Given the description of an element on the screen output the (x, y) to click on. 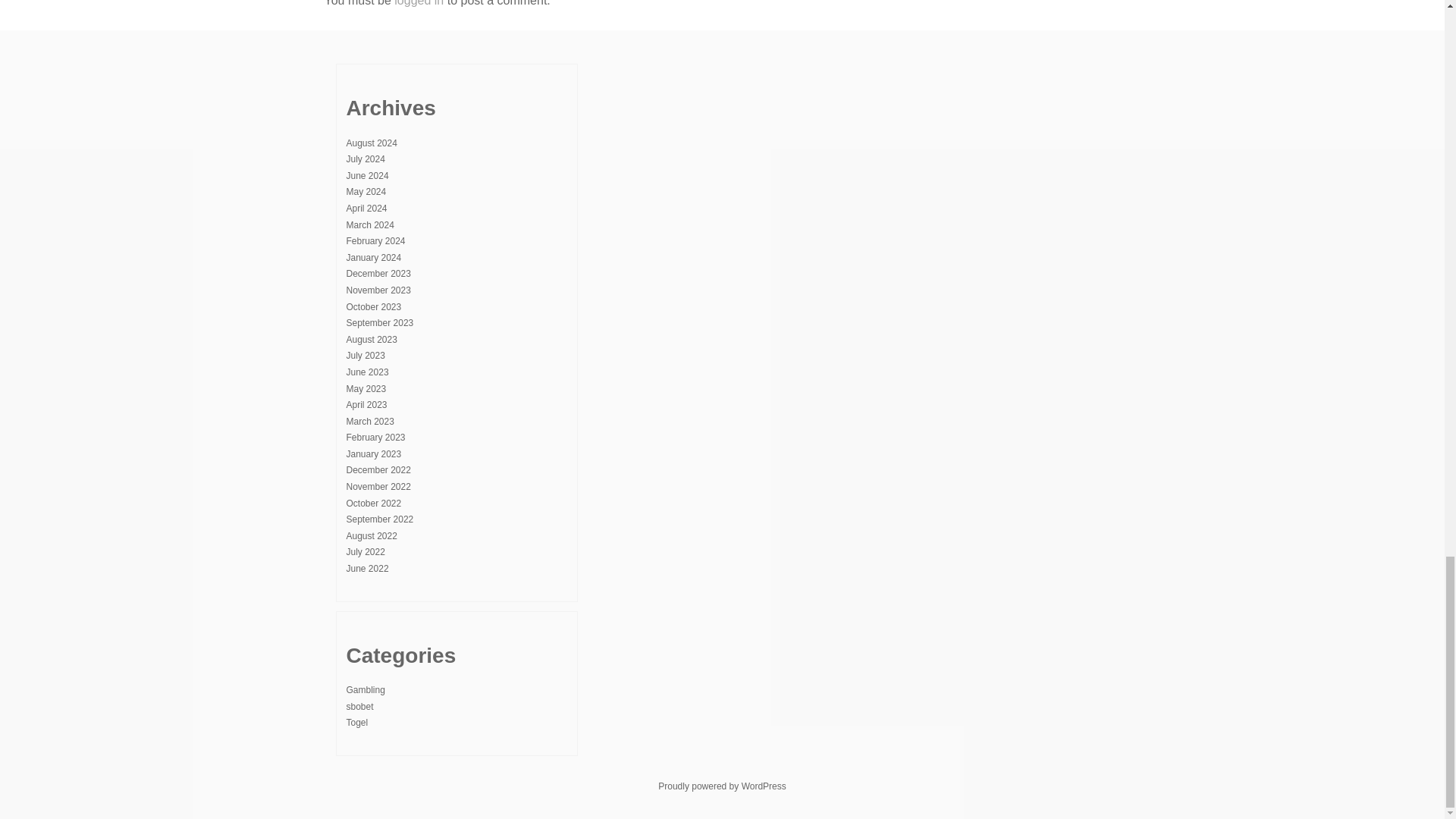
February 2023 (375, 437)
December 2023 (378, 273)
October 2023 (373, 307)
March 2023 (369, 421)
March 2024 (369, 225)
February 2024 (375, 240)
November 2023 (378, 290)
June 2024 (367, 175)
June 2023 (367, 371)
May 2023 (365, 388)
May 2024 (365, 191)
April 2023 (366, 404)
logged in (419, 3)
August 2024 (371, 143)
August 2023 (371, 339)
